Given the description of an element on the screen output the (x, y) to click on. 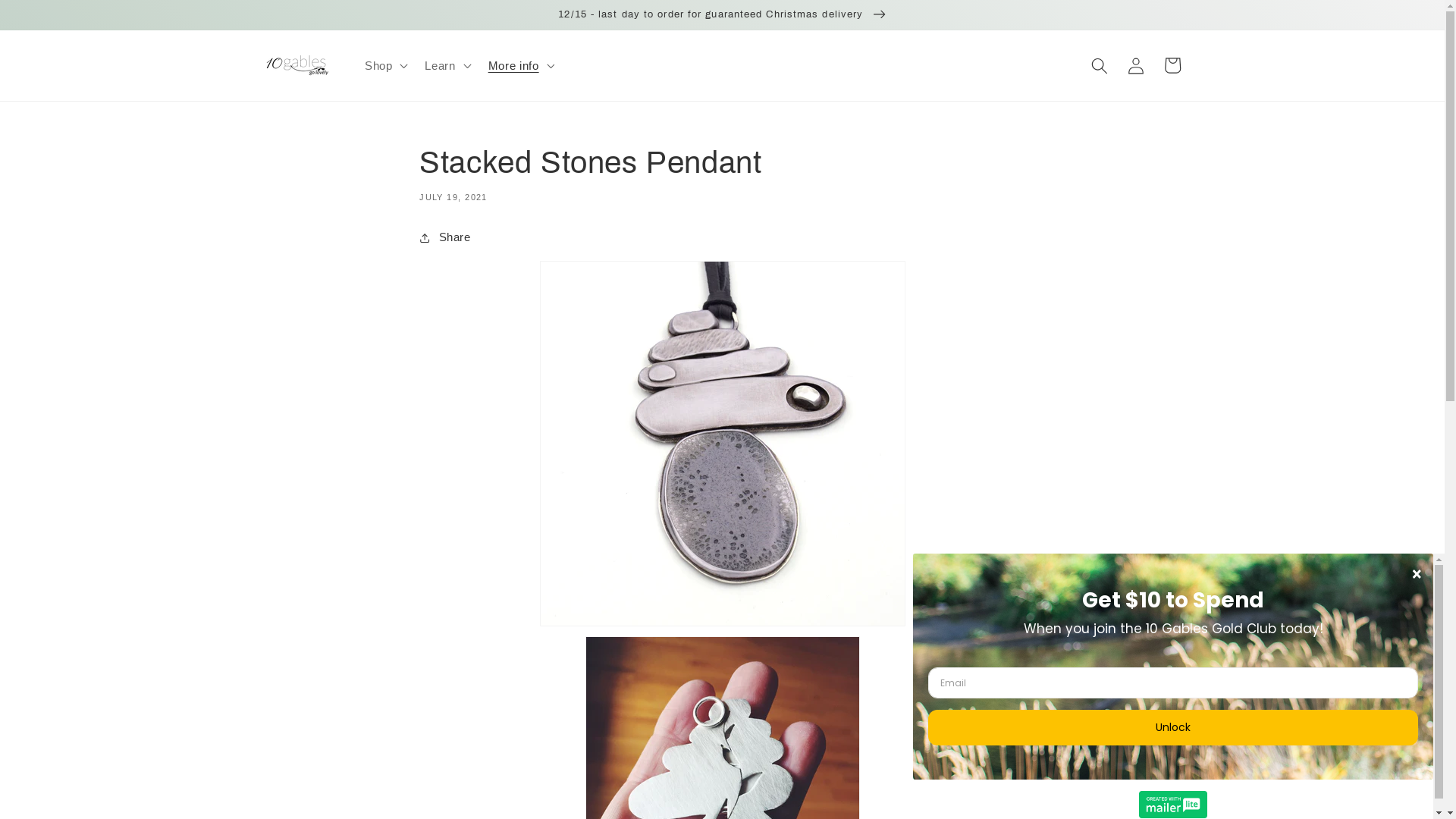
https://10gables.com/blogs/gallery/stacked-stones-pendant Element type: text (518, 292)
Cart Element type: text (1172, 65)
12/15 - last day to order for guaranteed Christmas delivery Element type: text (722, 14)
Log in Element type: text (1135, 65)
